Given the description of an element on the screen output the (x, y) to click on. 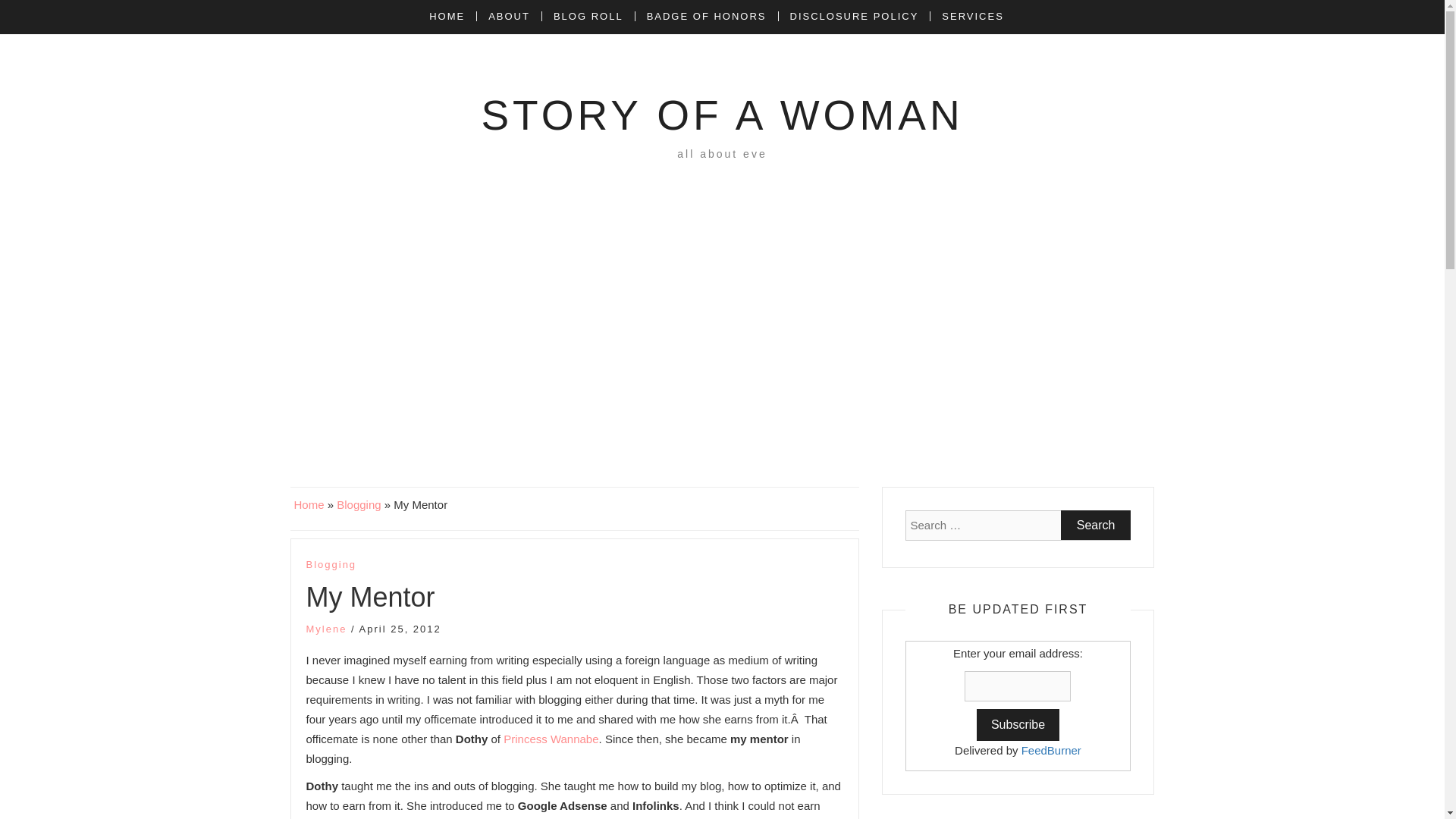
Blogging (330, 564)
Blogging (358, 504)
Mylene (326, 628)
ABOUT (508, 16)
Home (309, 504)
SERVICES (972, 16)
BADGE OF HONORS (705, 16)
DISCLOSURE POLICY (853, 16)
HOME (452, 16)
Search (1096, 524)
STORY OF A WOMAN (721, 114)
Princess Wannabe (550, 738)
BLOG ROLL (587, 16)
Subscribe (1017, 725)
Search (1096, 524)
